Given the description of an element on the screen output the (x, y) to click on. 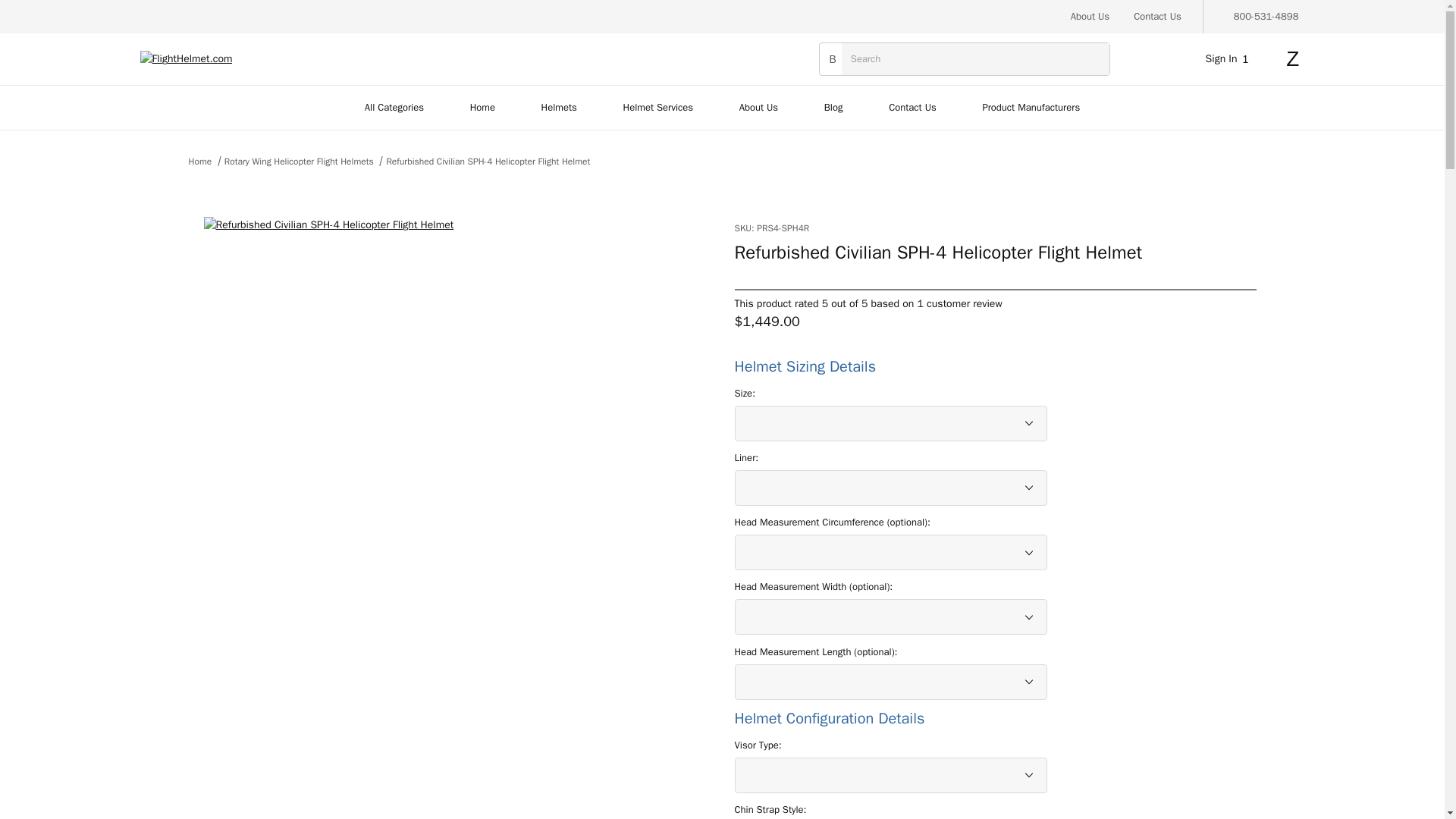
Sign In (1218, 249)
All Categories (393, 107)
Chin Strap Style: (769, 809)
Sign In (1229, 58)
Liner: (745, 458)
Helmet Configuration Details: (889, 718)
About Us (1089, 16)
Helmet Sizing Details: (889, 366)
Visor Type: (756, 744)
Size: (744, 393)
